Given the description of an element on the screen output the (x, y) to click on. 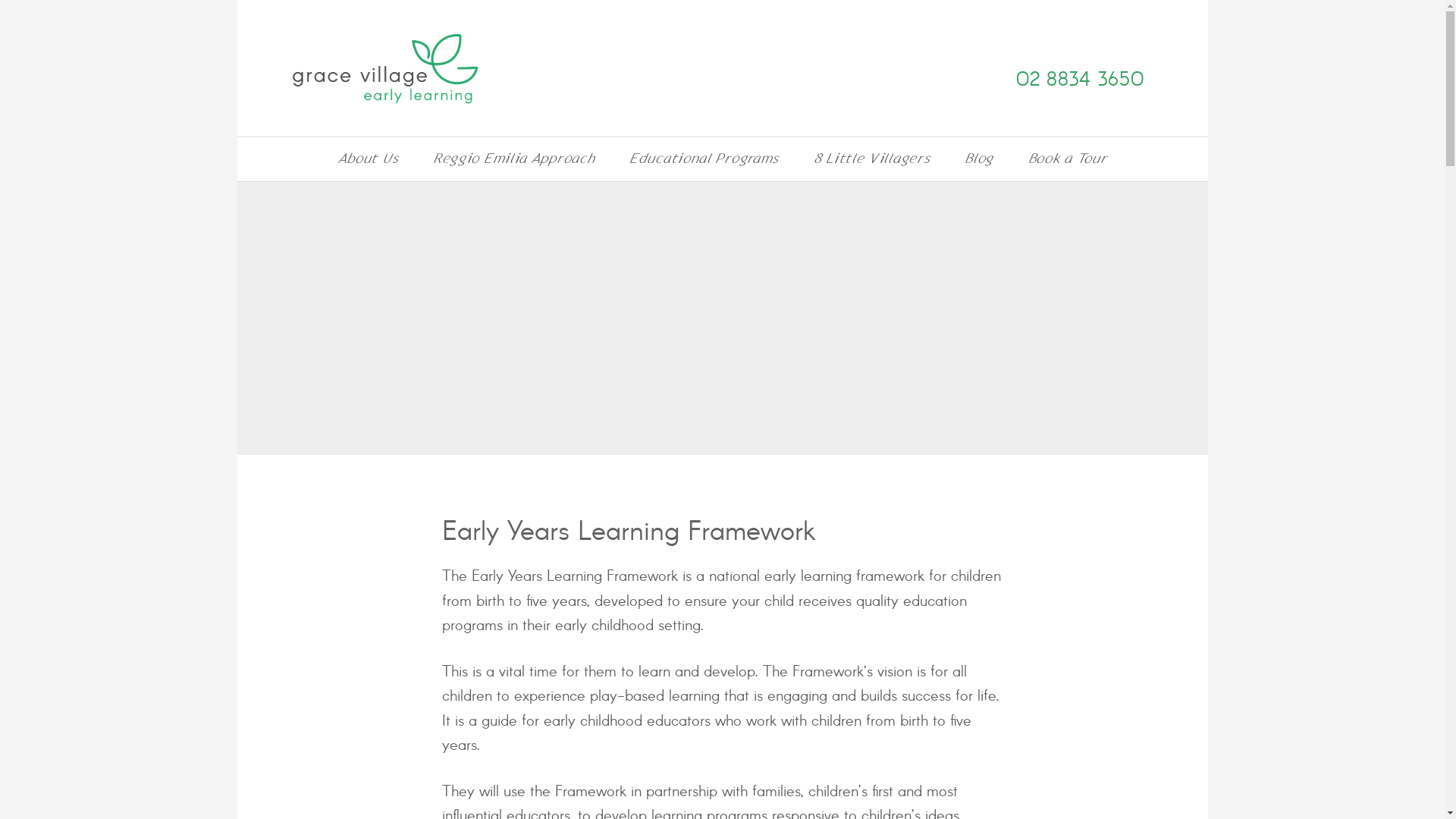
Grace Village Early Learning Centre Element type: text (398, 68)
Reggio Emilia Approach Element type: text (513, 159)
Educational Programs Element type: text (703, 159)
8 Little Villagers Element type: text (871, 159)
Book a Tour Element type: text (1067, 159)
Skip to primary navigation Element type: text (236, 0)
02 8834 3650 Element type: text (1079, 80)
About Us Element type: text (368, 159)
Blog Element type: text (978, 159)
